Given the description of an element on the screen output the (x, y) to click on. 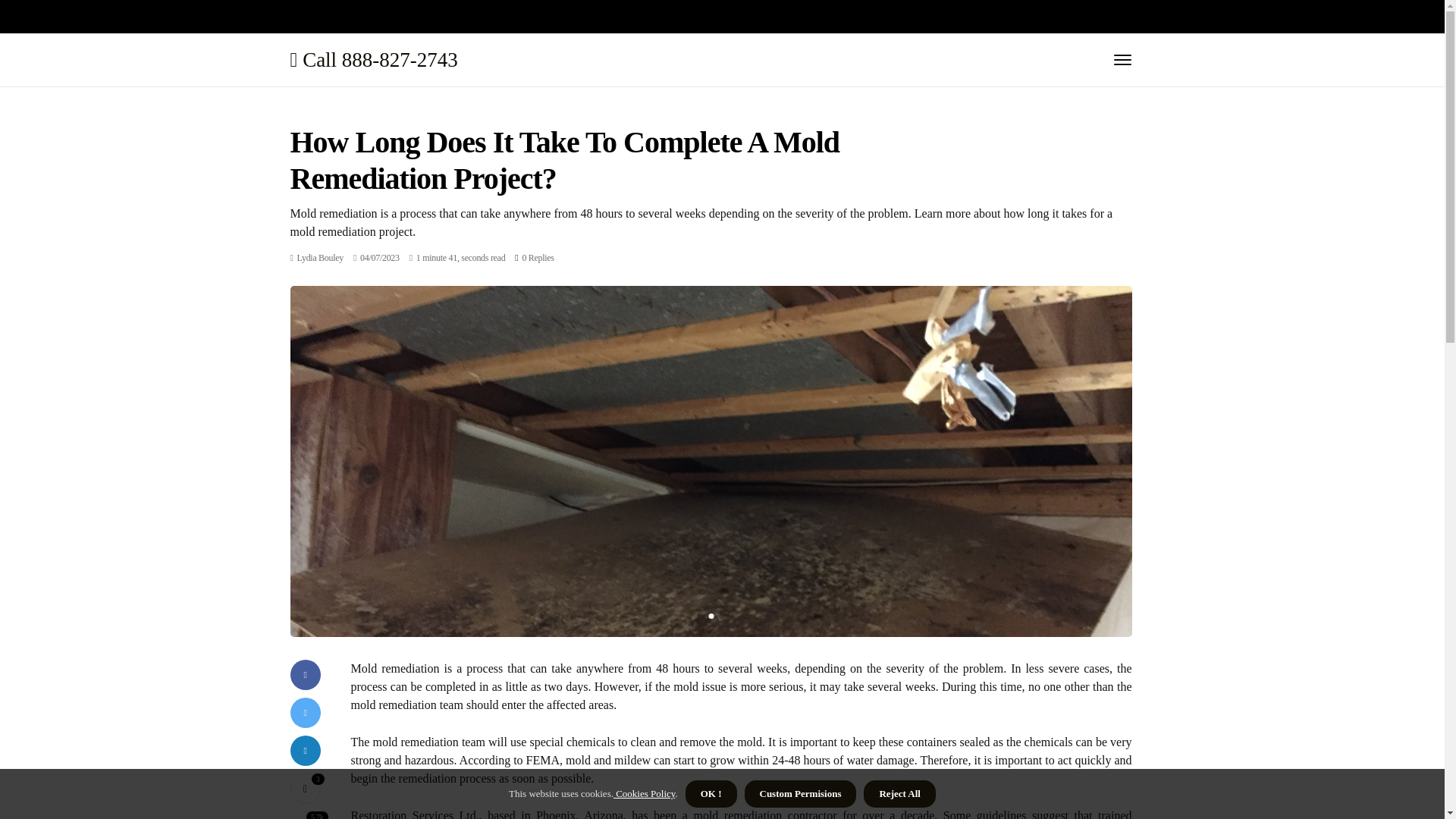
Posts by Lydia Bouley (320, 257)
Call 888-827-2743 (373, 59)
Like (304, 788)
Lydia Bouley (320, 257)
3 (304, 788)
1 (710, 616)
0 Replies (537, 257)
